Given the description of an element on the screen output the (x, y) to click on. 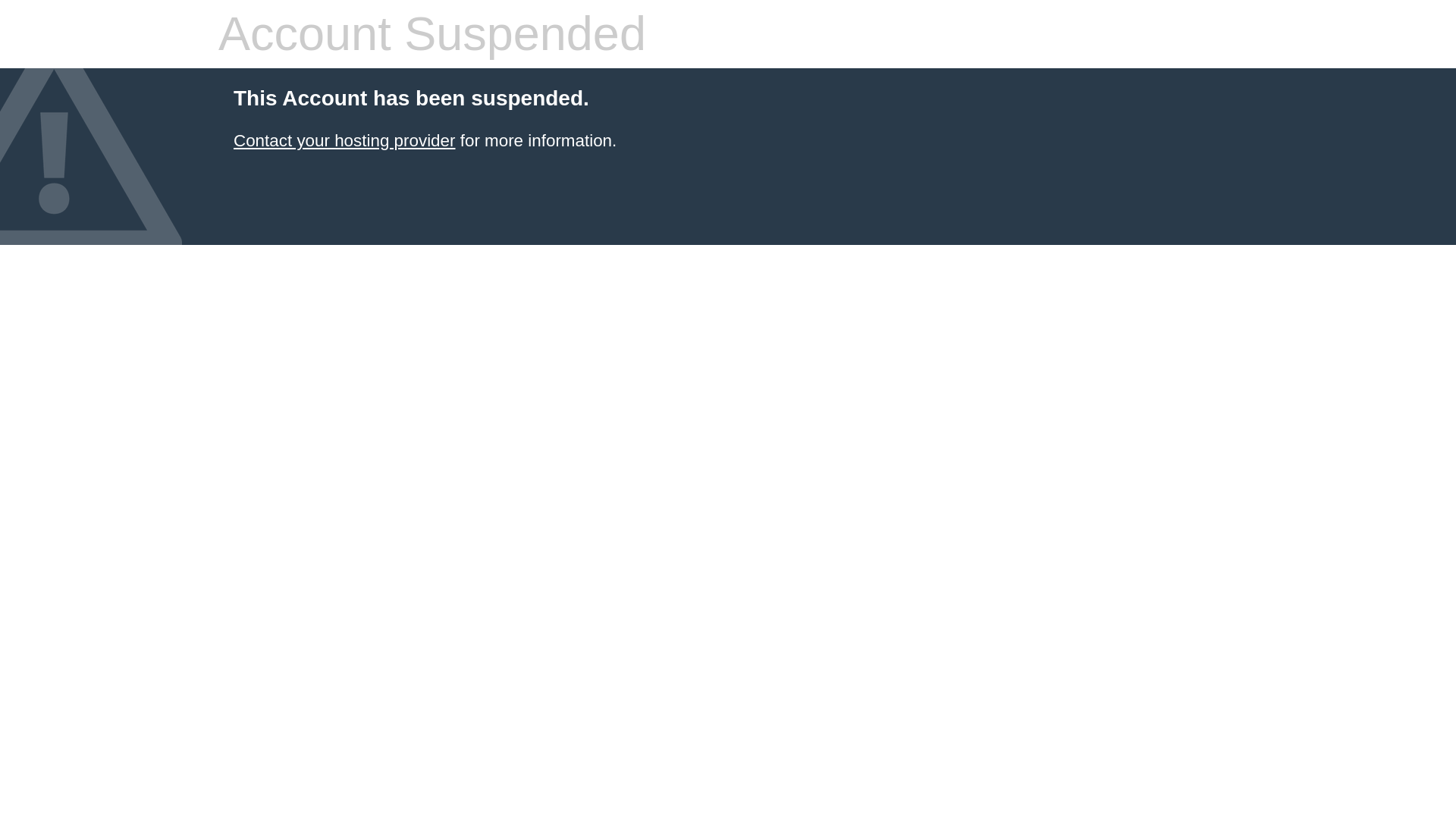
Contact your hosting provider (343, 140)
